Given the description of an element on the screen output the (x, y) to click on. 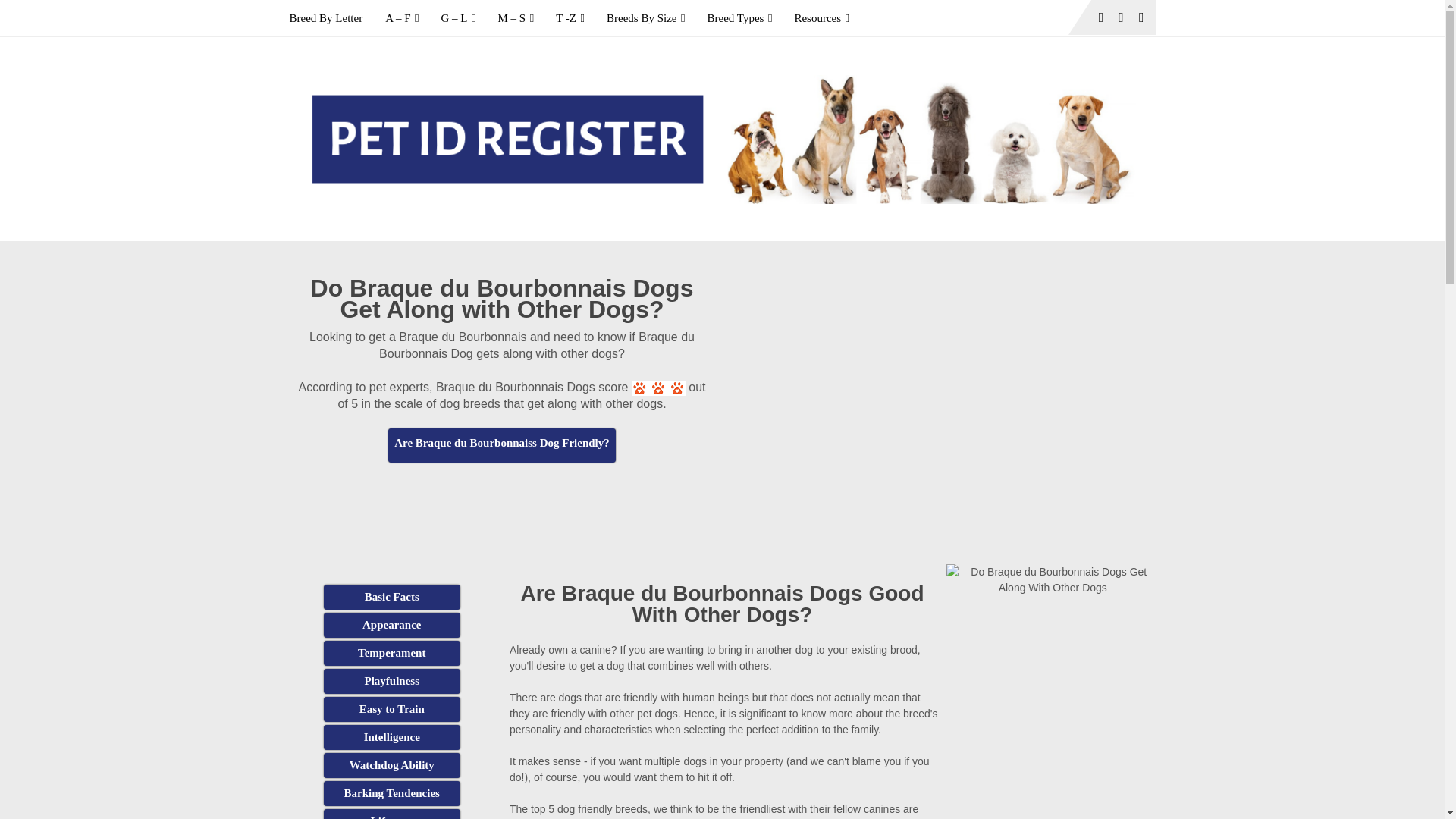
Breed Types (739, 18)
Do Braque du Bourbonnais Dogs bark a lot? (391, 793)
T -Z (569, 18)
Will Braque du Bourbonnais Dogs make good guard dogs? (391, 765)
Resources (821, 18)
Are Braque du Bourbonnais Dogs Easy to Train? (391, 708)
Braque du Bourbonnais Dog Information? (391, 596)
Advertisement (501, 501)
What is the lifespan of Braque du Bourbonnais Dogs? (391, 814)
How does a Braque du Bourbonnais Dog look like? (391, 625)
